Given the description of an element on the screen output the (x, y) to click on. 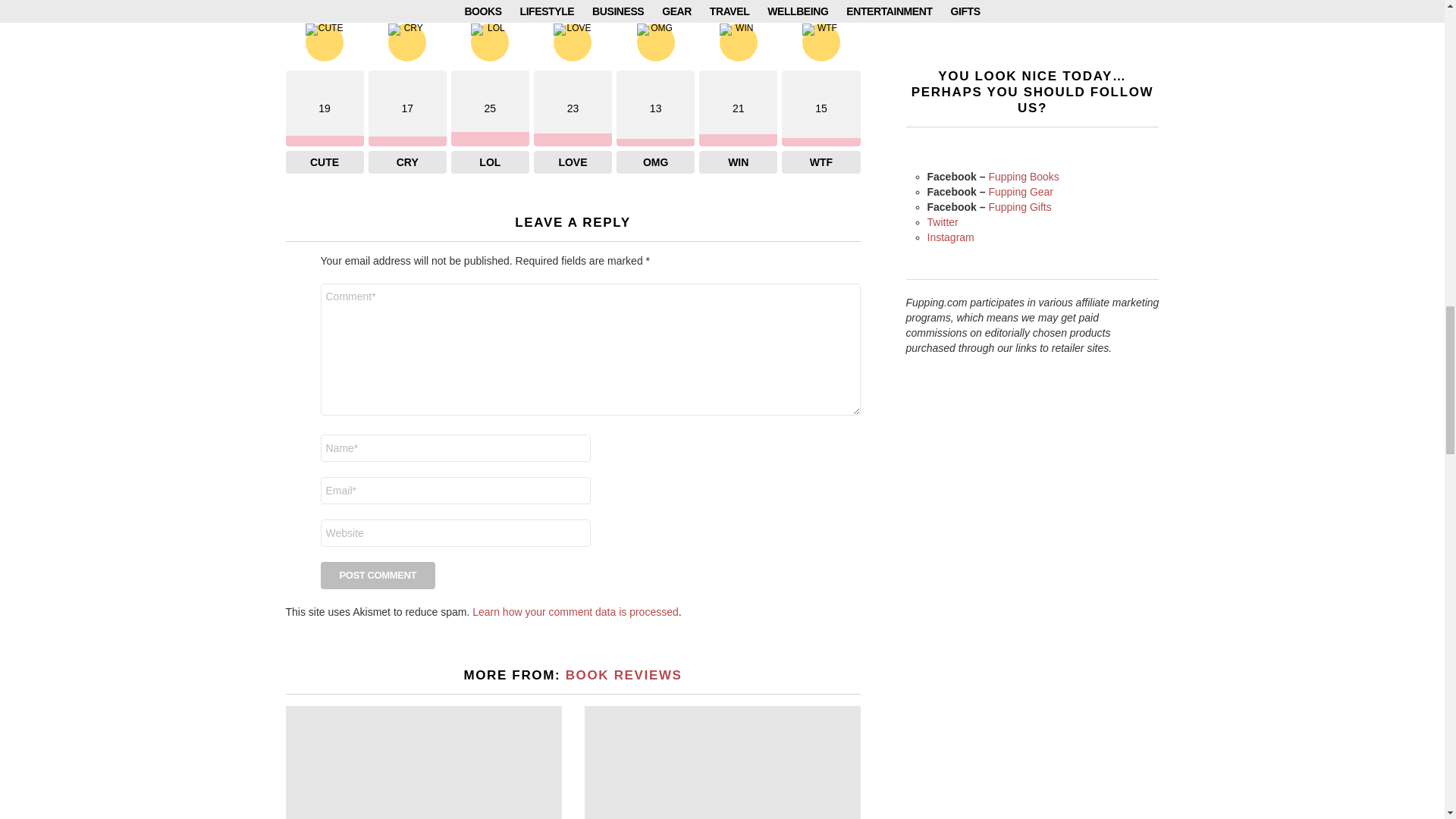
Soulmate Tattoo Designs: Symbolizing Eternal Love (422, 762)
Post Comment (377, 574)
Navigating the Feeling of Being an Afterthought (721, 762)
